Given the description of an element on the screen output the (x, y) to click on. 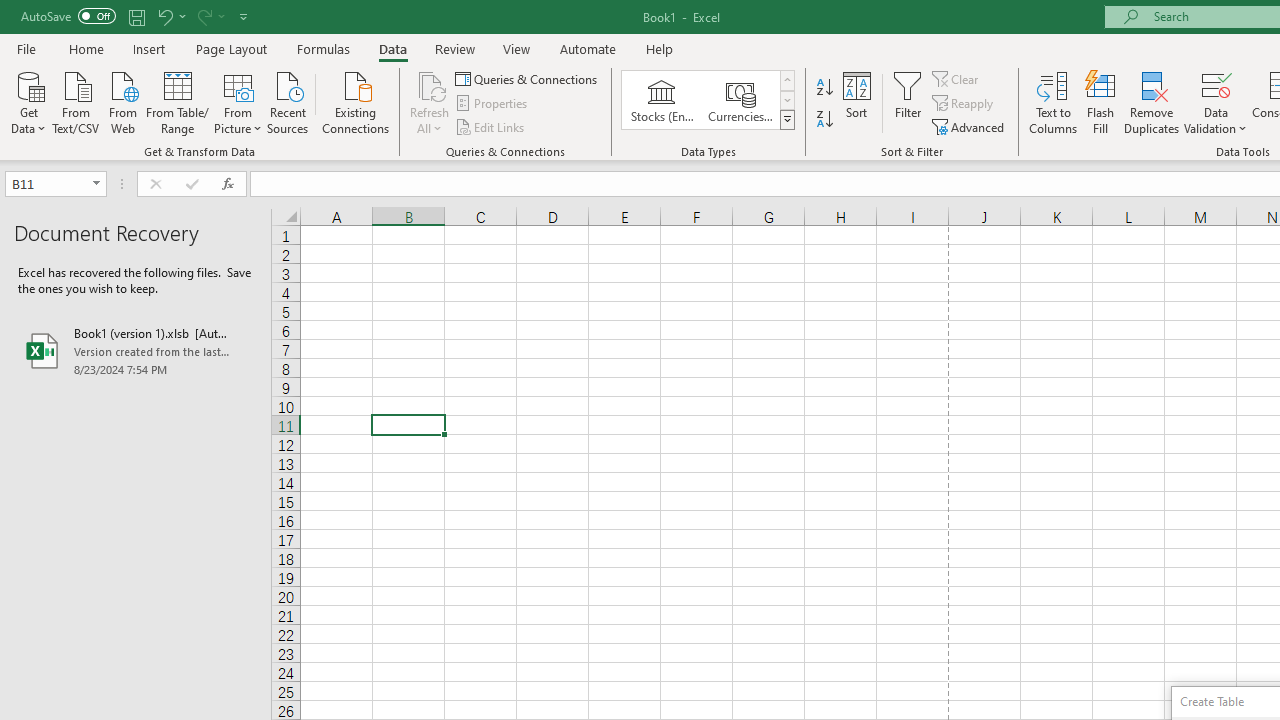
From Picture (238, 101)
